Given the description of an element on the screen output the (x, y) to click on. 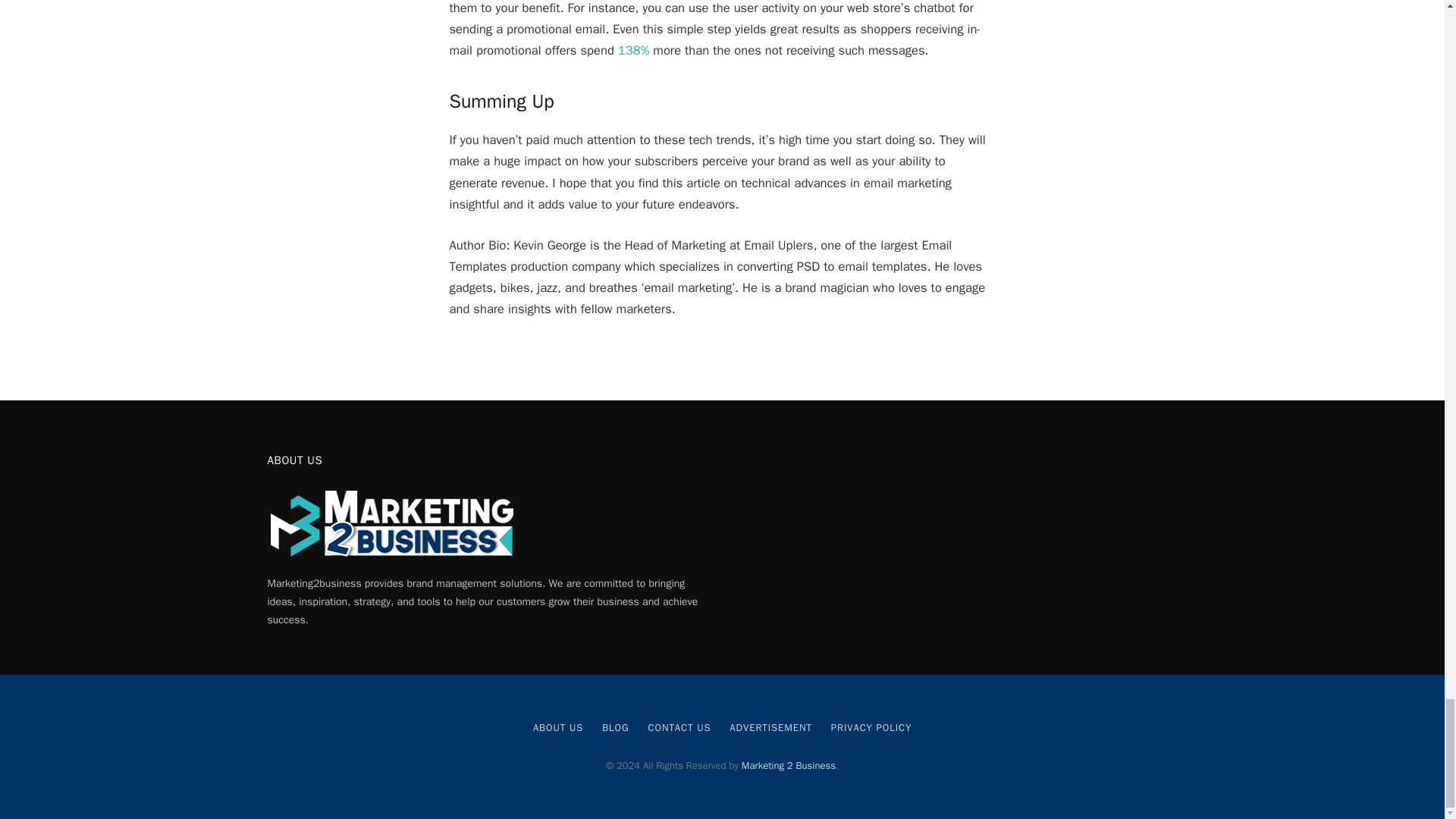
ADVERTISEMENT (769, 727)
CONTACT US (678, 727)
BLOG (615, 727)
ABOUT US (557, 727)
